Given the description of an element on the screen output the (x, y) to click on. 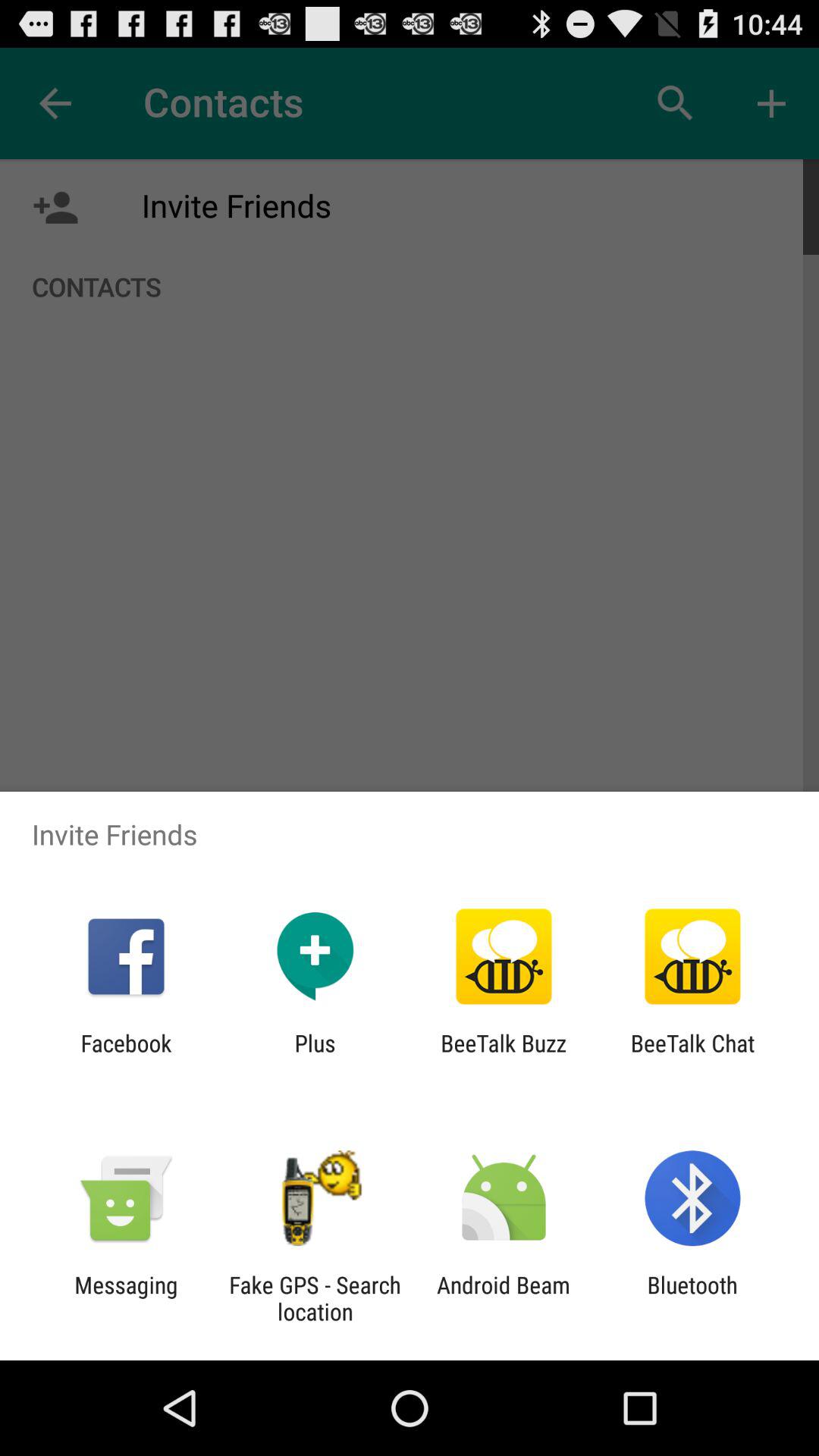
jump until the facebook (125, 1056)
